Given the description of an element on the screen output the (x, y) to click on. 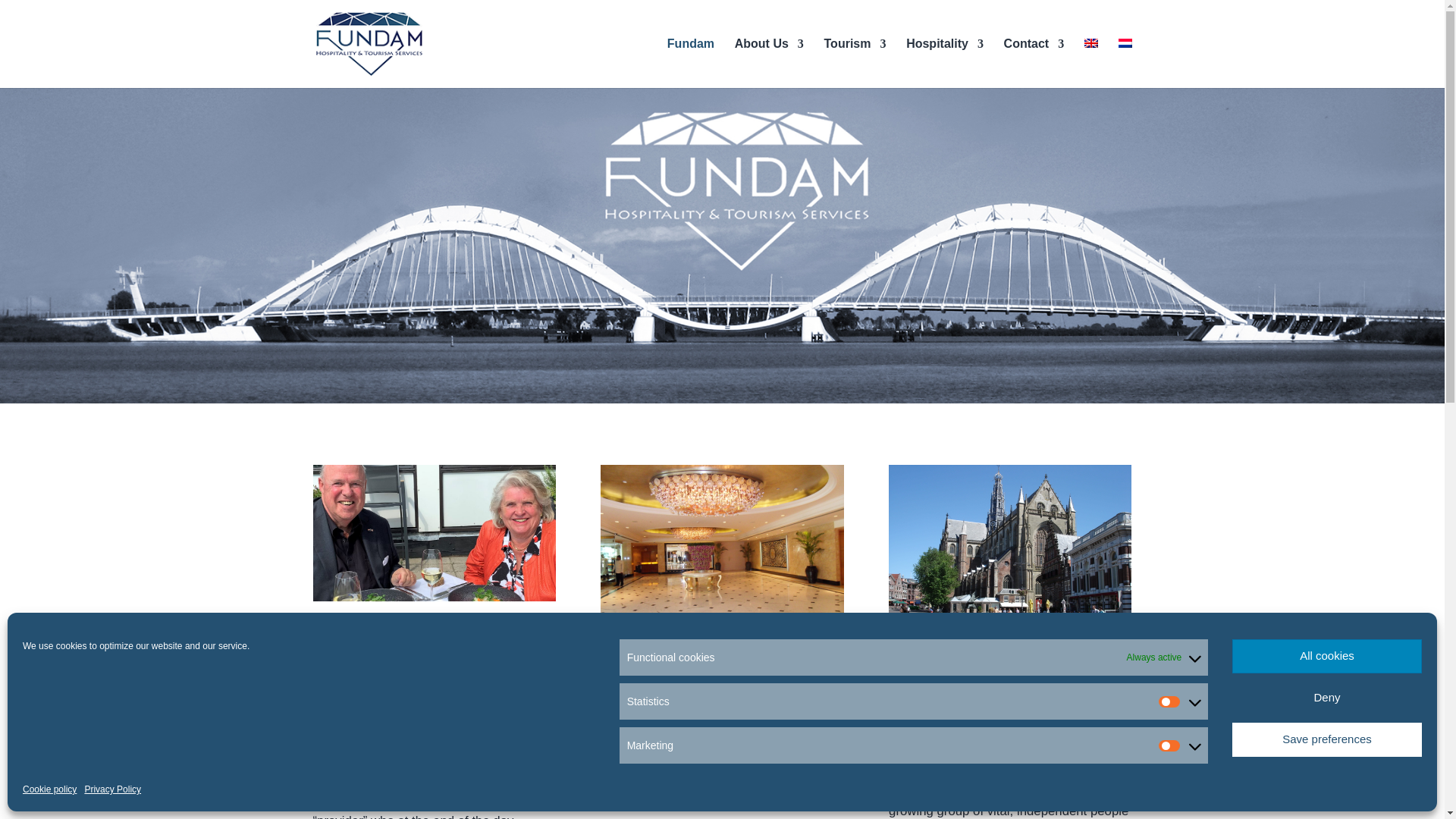
All cookies (1326, 656)
About Us (769, 62)
Deny (1326, 697)
Fundam (690, 62)
Save preferences (1326, 739)
Hospitality (944, 62)
Tourism (855, 62)
Cookie policy (50, 789)
Privacy Policy (112, 789)
Contact (1034, 62)
